Given the description of an element on the screen output the (x, y) to click on. 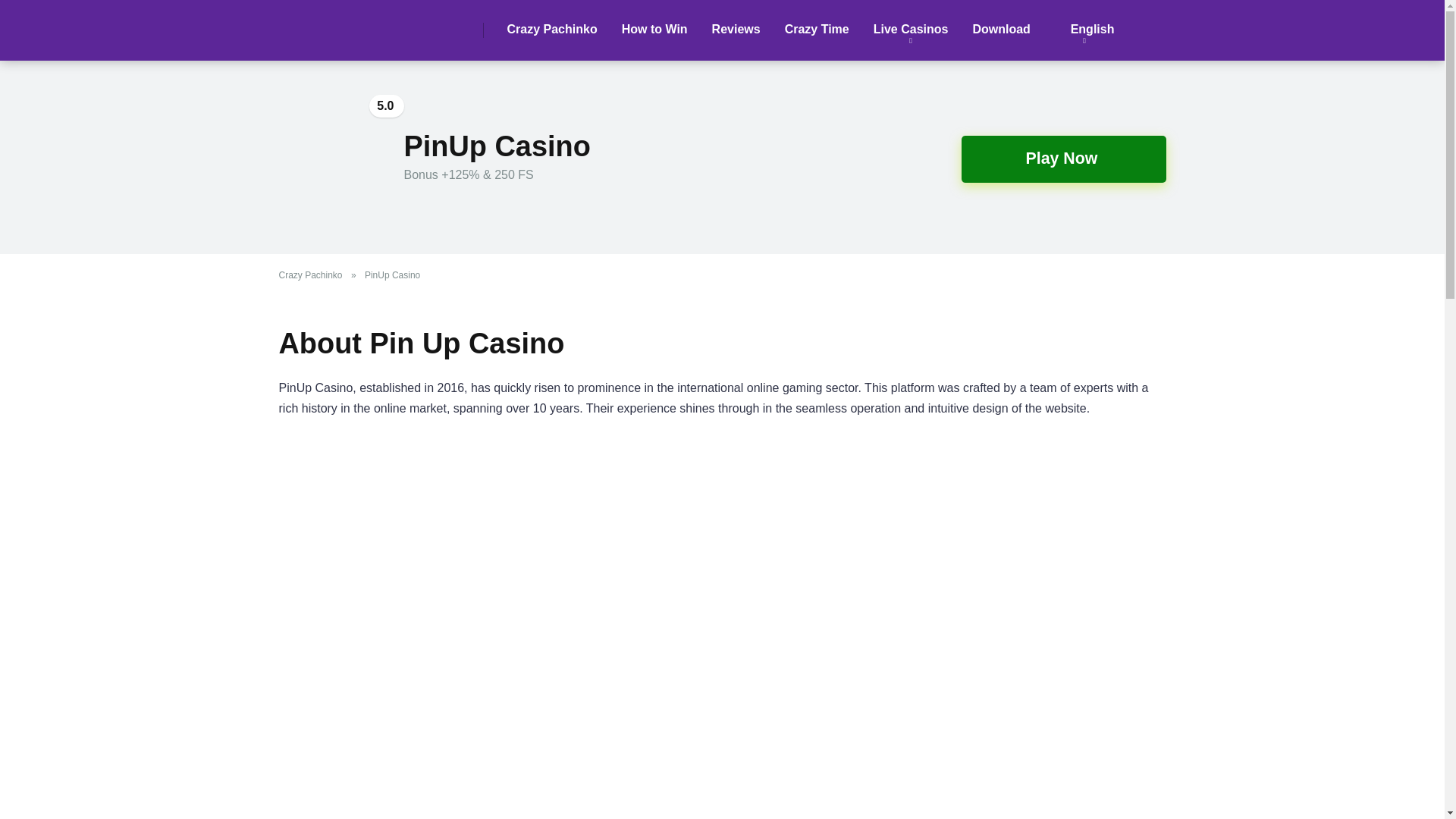
English (1084, 30)
Crazy Time (817, 30)
Crazy Pachinko (551, 30)
Play Now (1063, 158)
Download (1000, 30)
Crazy Pachinko (314, 275)
Reviews (736, 30)
Live Casinos (910, 30)
Play Now (1063, 158)
How to Win (655, 30)
crazy-pachinko.com (306, 24)
